Given the description of an element on the screen output the (x, y) to click on. 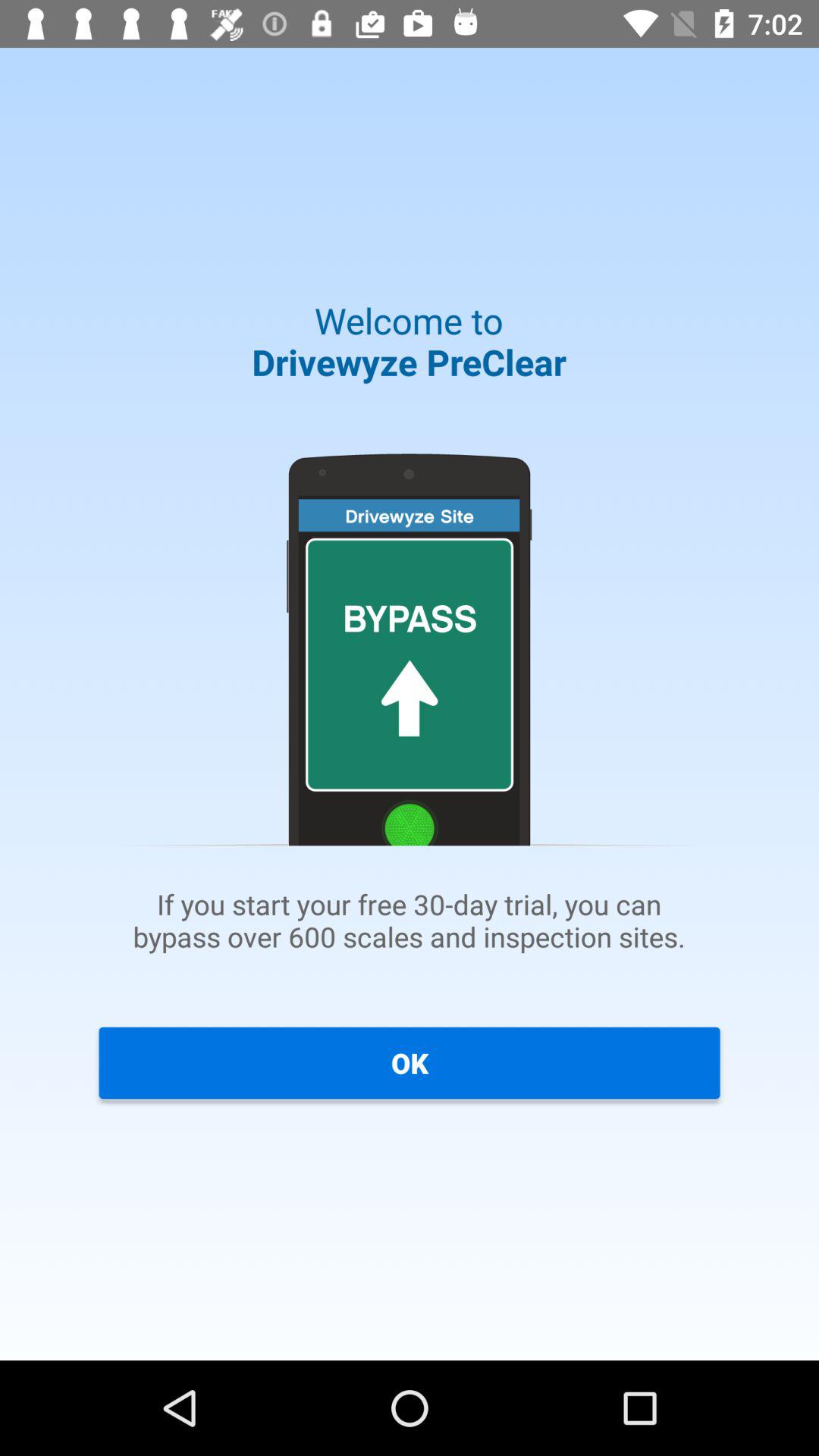
click ok (409, 1062)
